Given the description of an element on the screen output the (x, y) to click on. 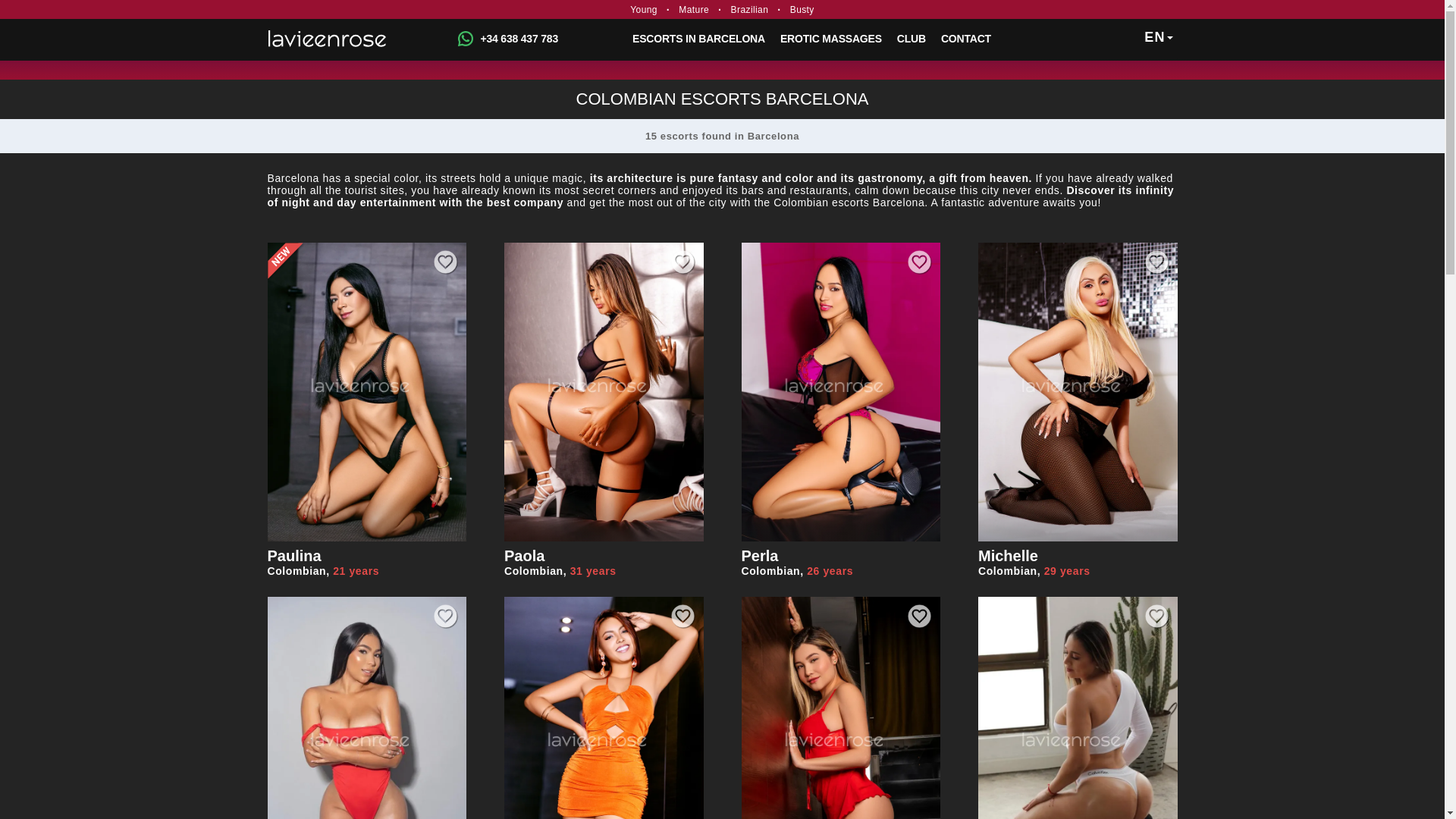
Busty (801, 9)
EROTIC MASSAGES (831, 38)
CLUB (911, 38)
Brazilian (749, 9)
CONTACT (365, 566)
ESCORTS IN BARCELONA (965, 38)
Young (698, 38)
